Given the description of an element on the screen output the (x, y) to click on. 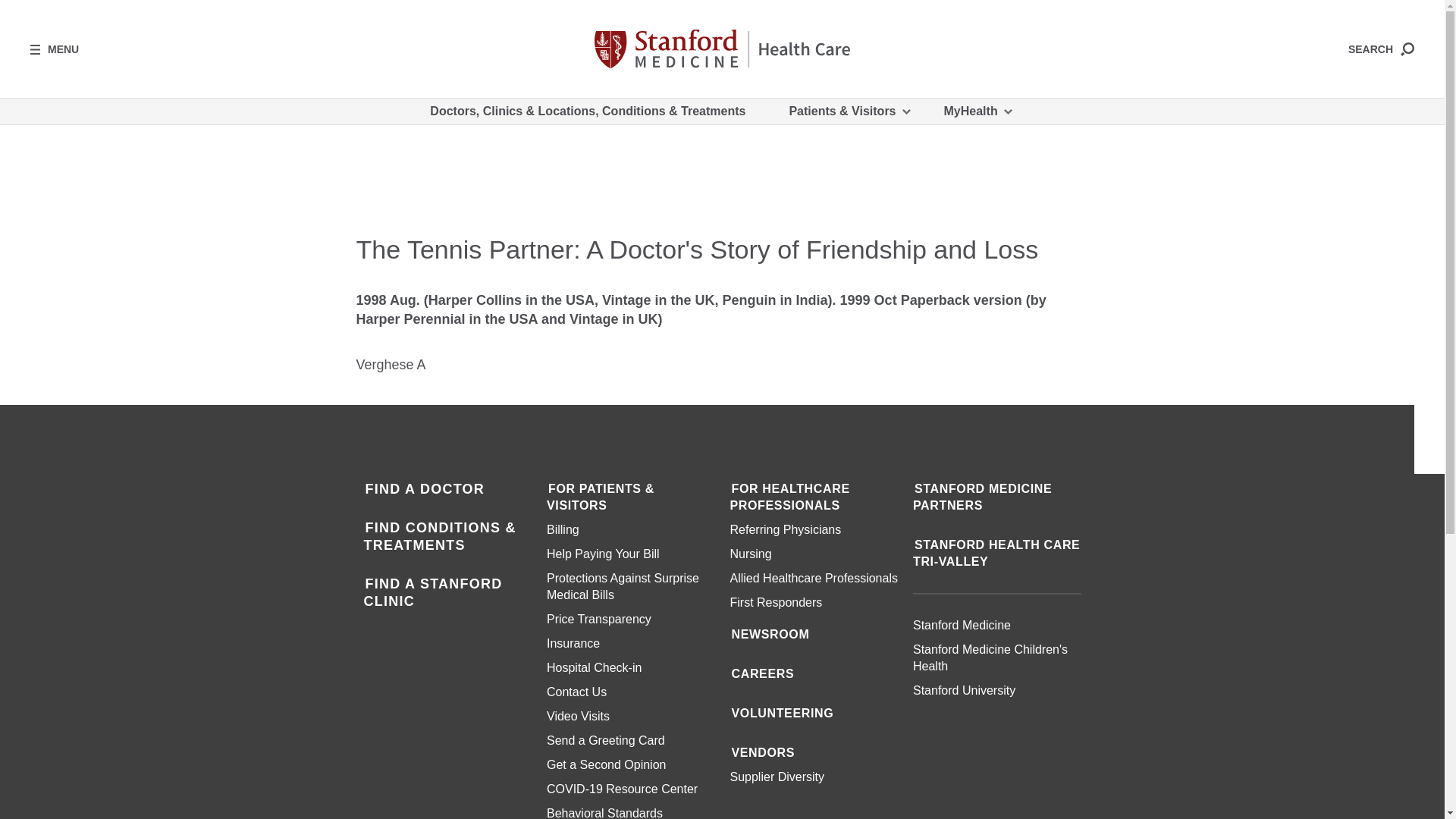
MENU (54, 49)
SEARCH (1380, 49)
MyHealth (976, 110)
